Given the description of an element on the screen output the (x, y) to click on. 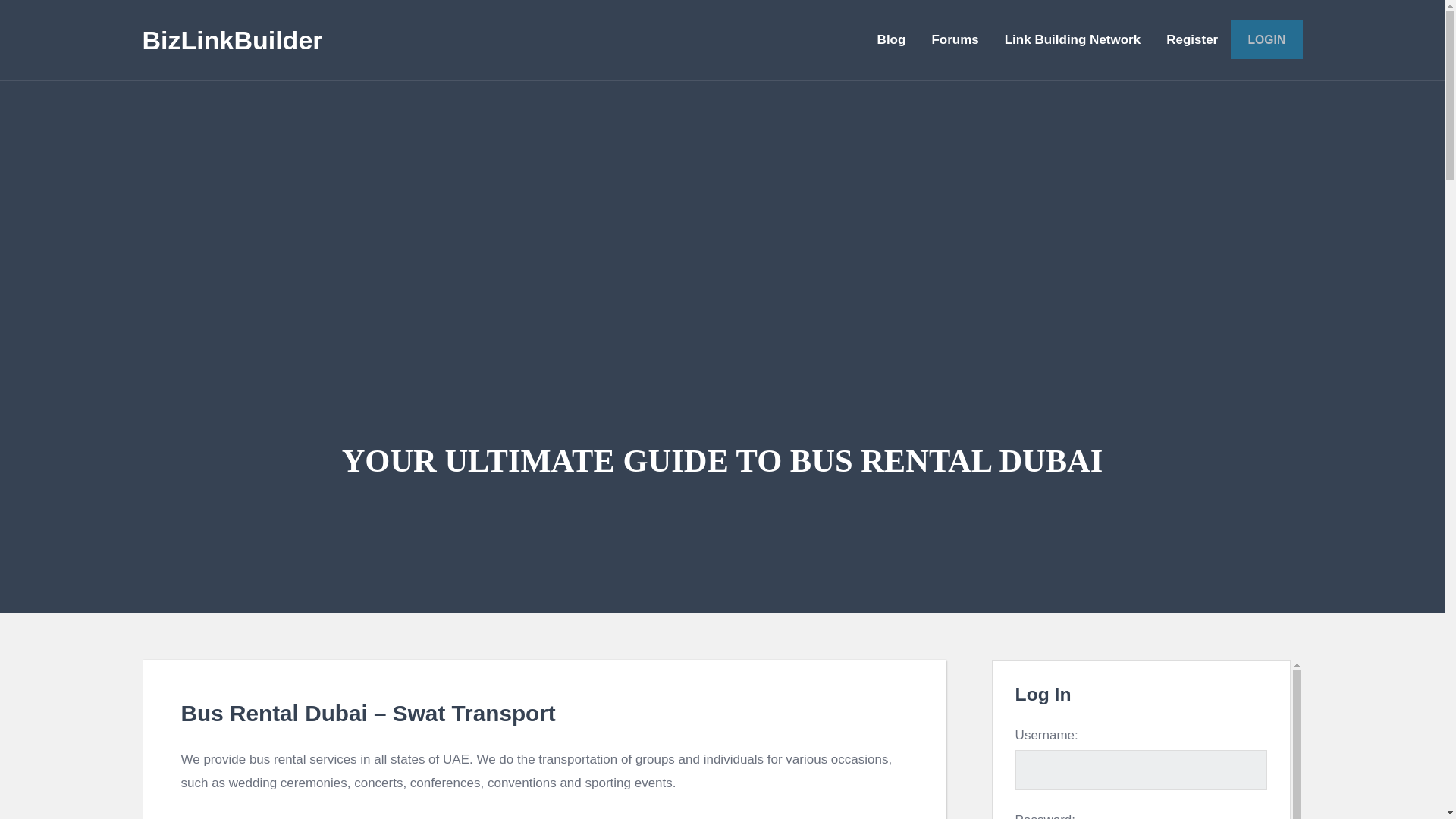
Forums (954, 40)
LOGIN (1265, 39)
Link Building Network (1072, 40)
Bus Rental Dubai (273, 713)
Register (1191, 40)
BizLinkBuilder (232, 39)
